Given the description of an element on the screen output the (x, y) to click on. 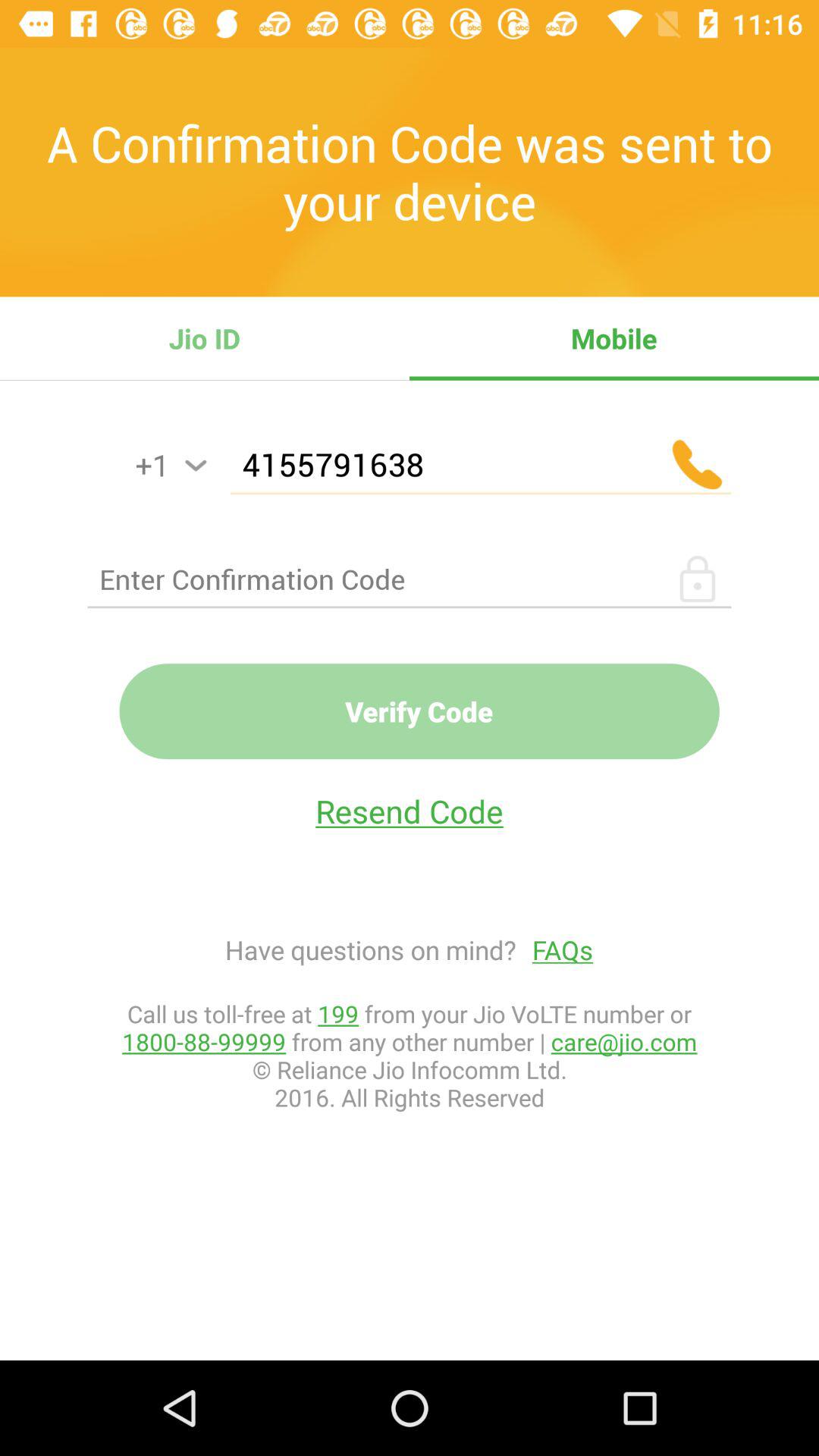
he can activate the simple voice command (195, 465)
